Given the description of an element on the screen output the (x, y) to click on. 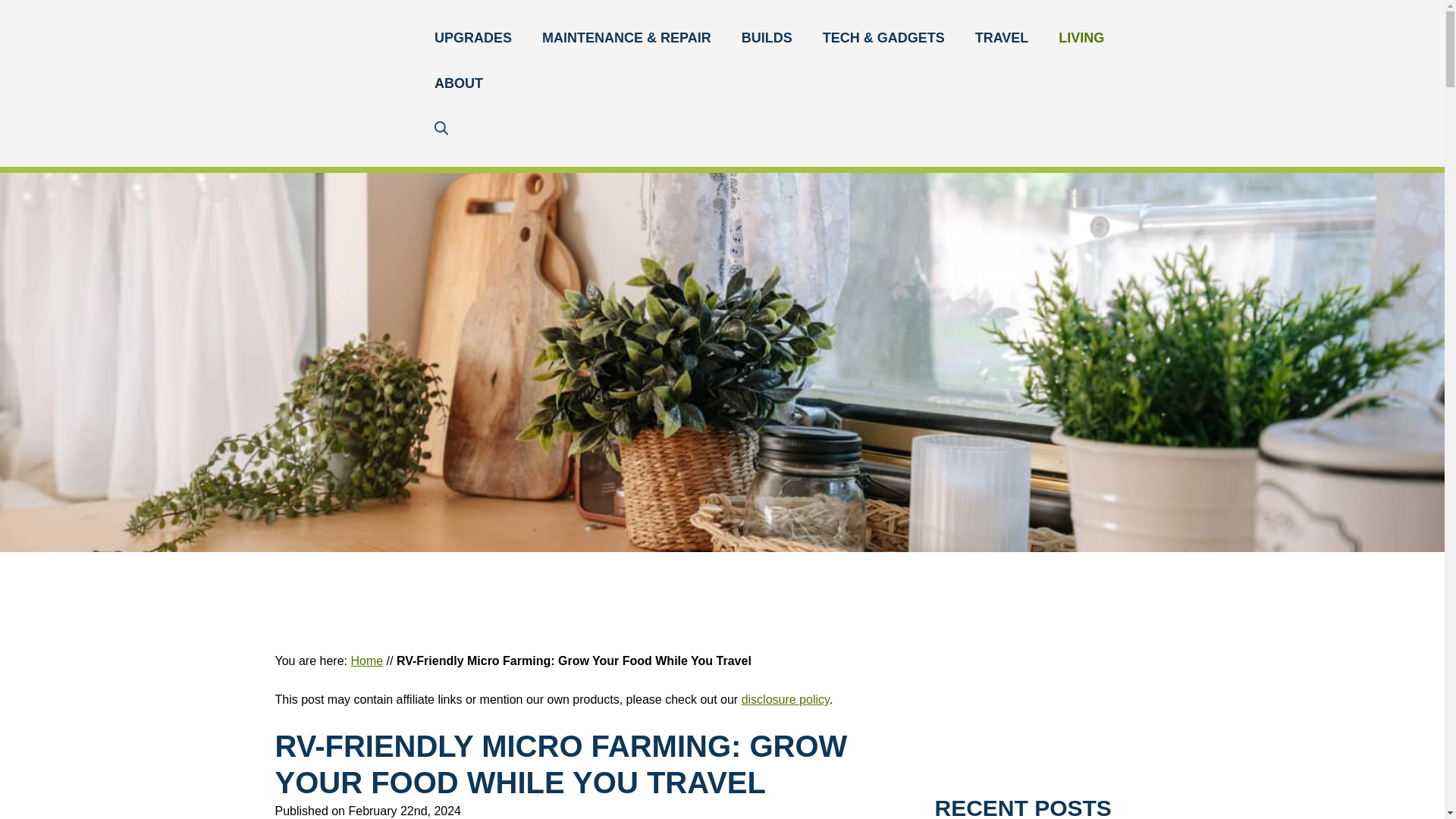
ABOUT (458, 83)
TRAVEL (1001, 37)
LIVING (1081, 37)
Home (366, 660)
disclosure policy (785, 698)
BUILDS (767, 37)
UPGRADES (473, 37)
